Given the description of an element on the screen output the (x, y) to click on. 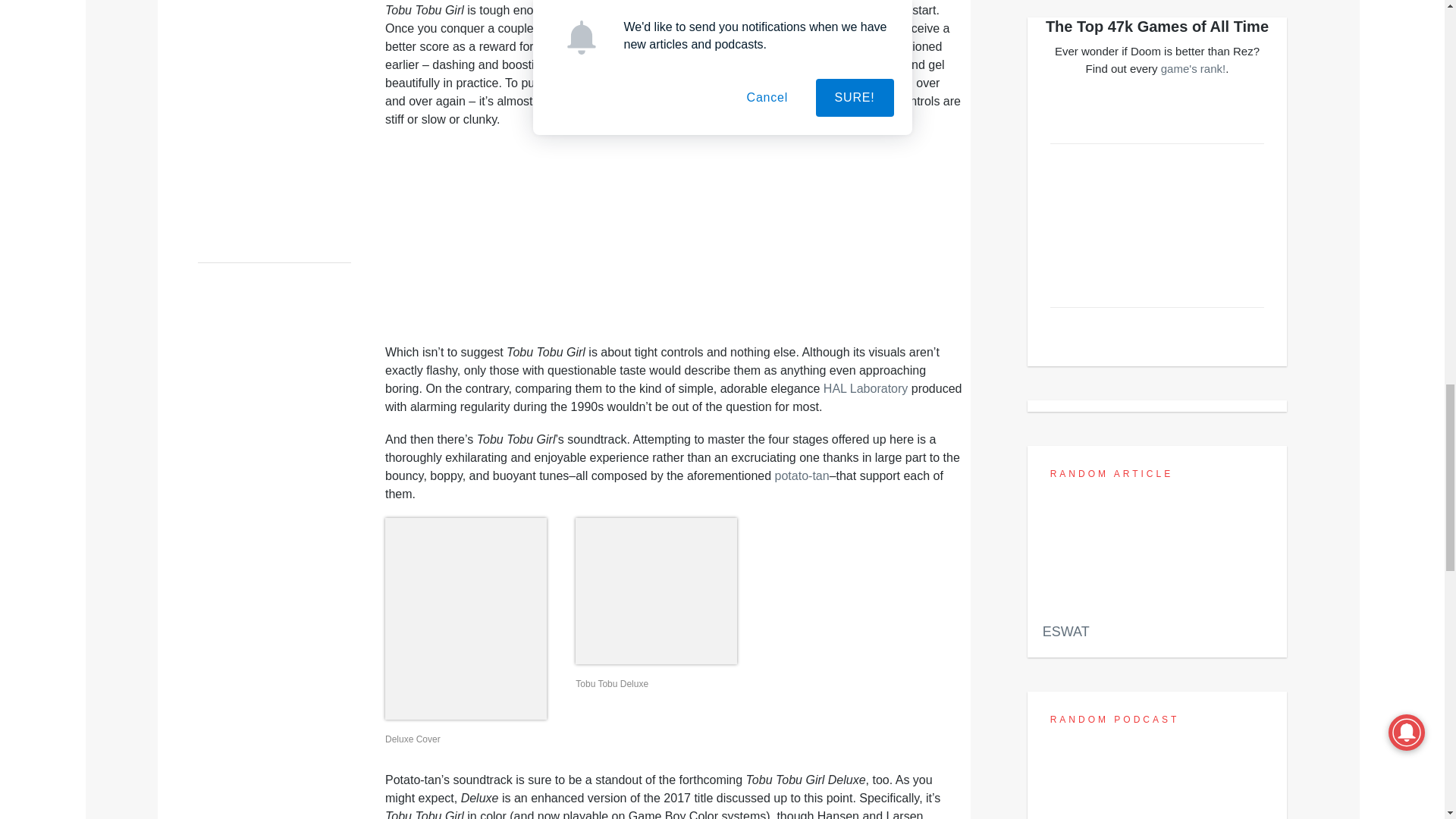
HAL Laboratory (865, 388)
potato-tan (801, 475)
